Given the description of an element on the screen output the (x, y) to click on. 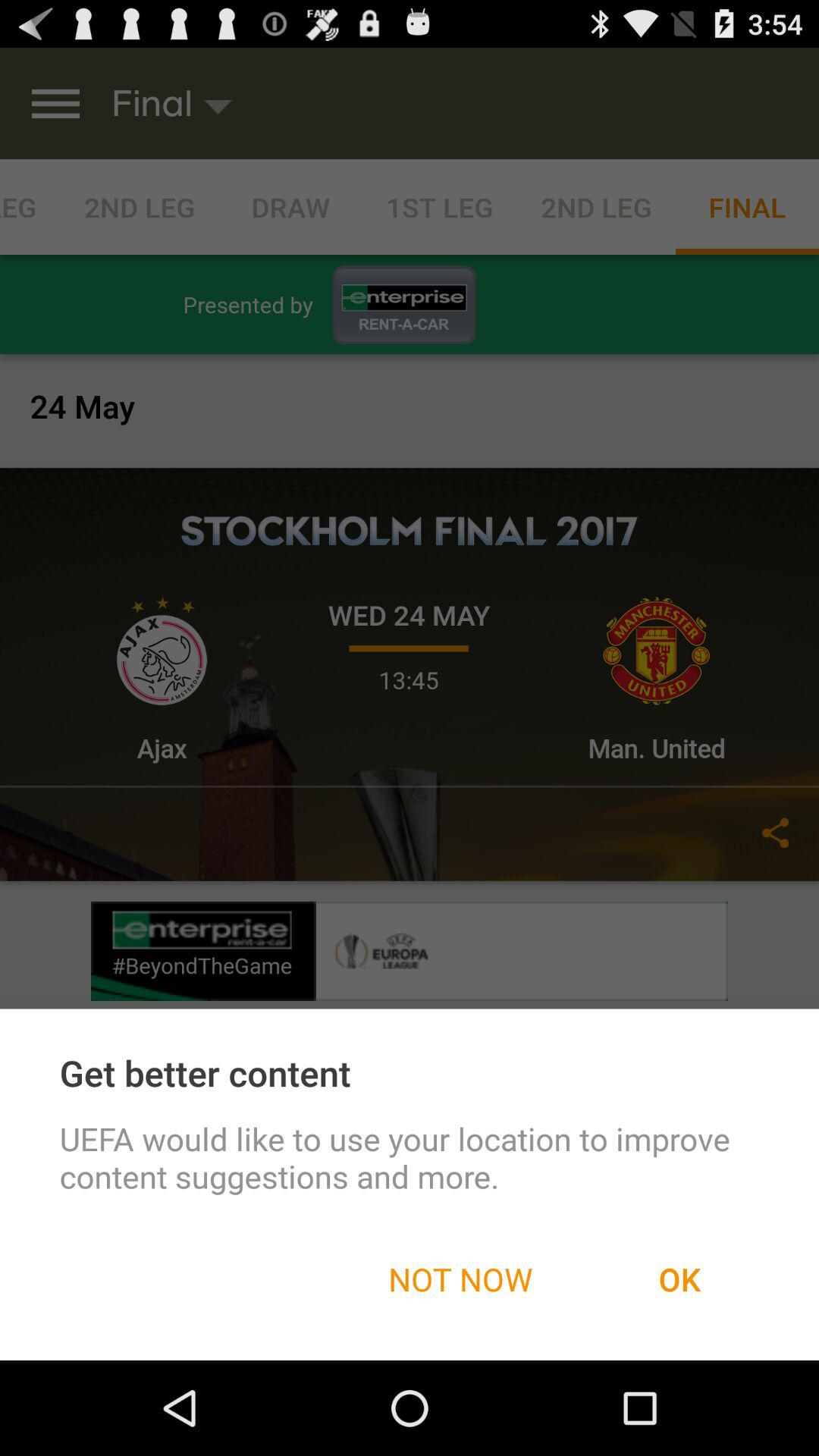
launch item next to the ok icon (460, 1278)
